Given the description of an element on the screen output the (x, y) to click on. 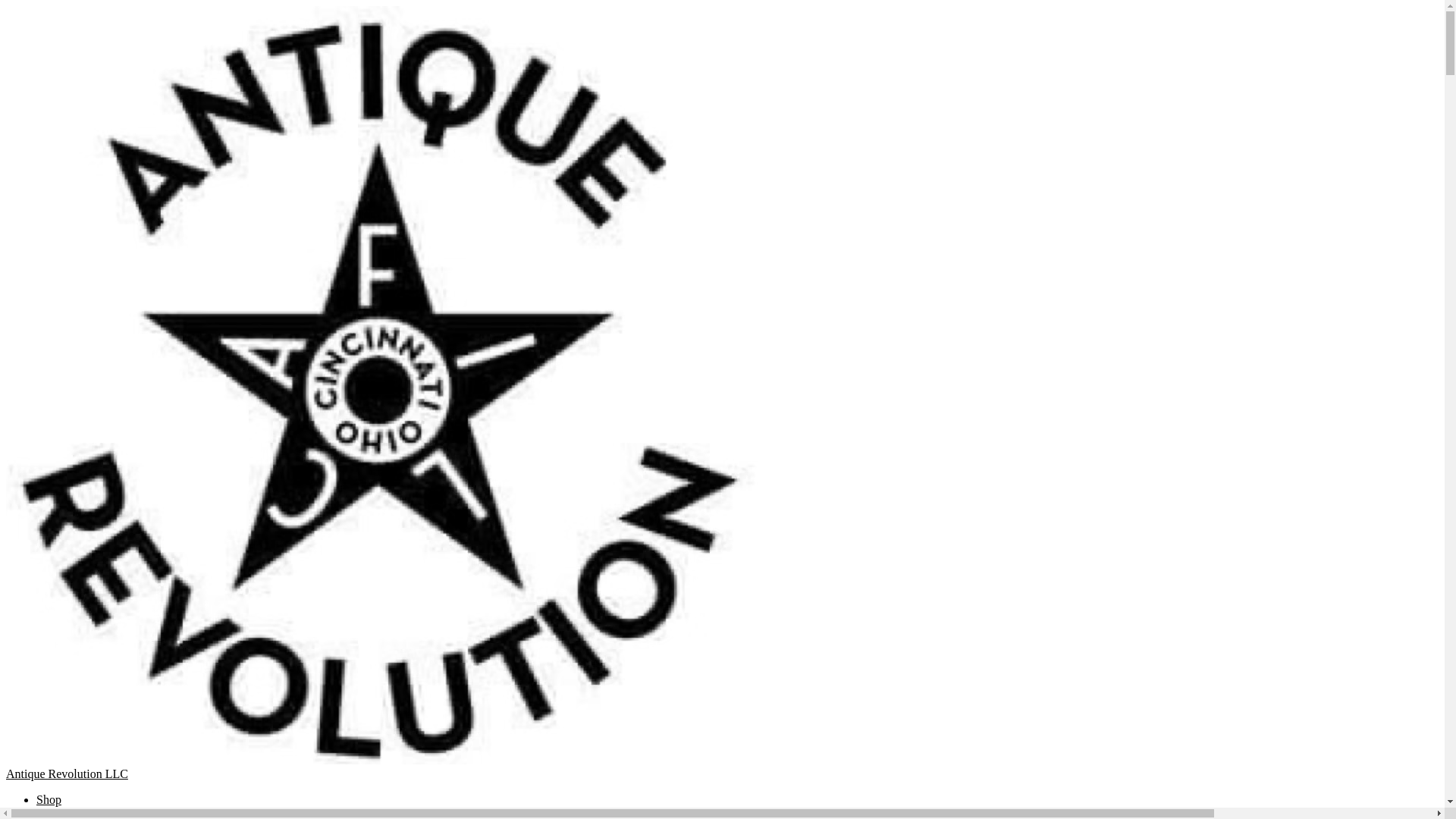
About (51, 812)
Shop (48, 799)
